Given the description of an element on the screen output the (x, y) to click on. 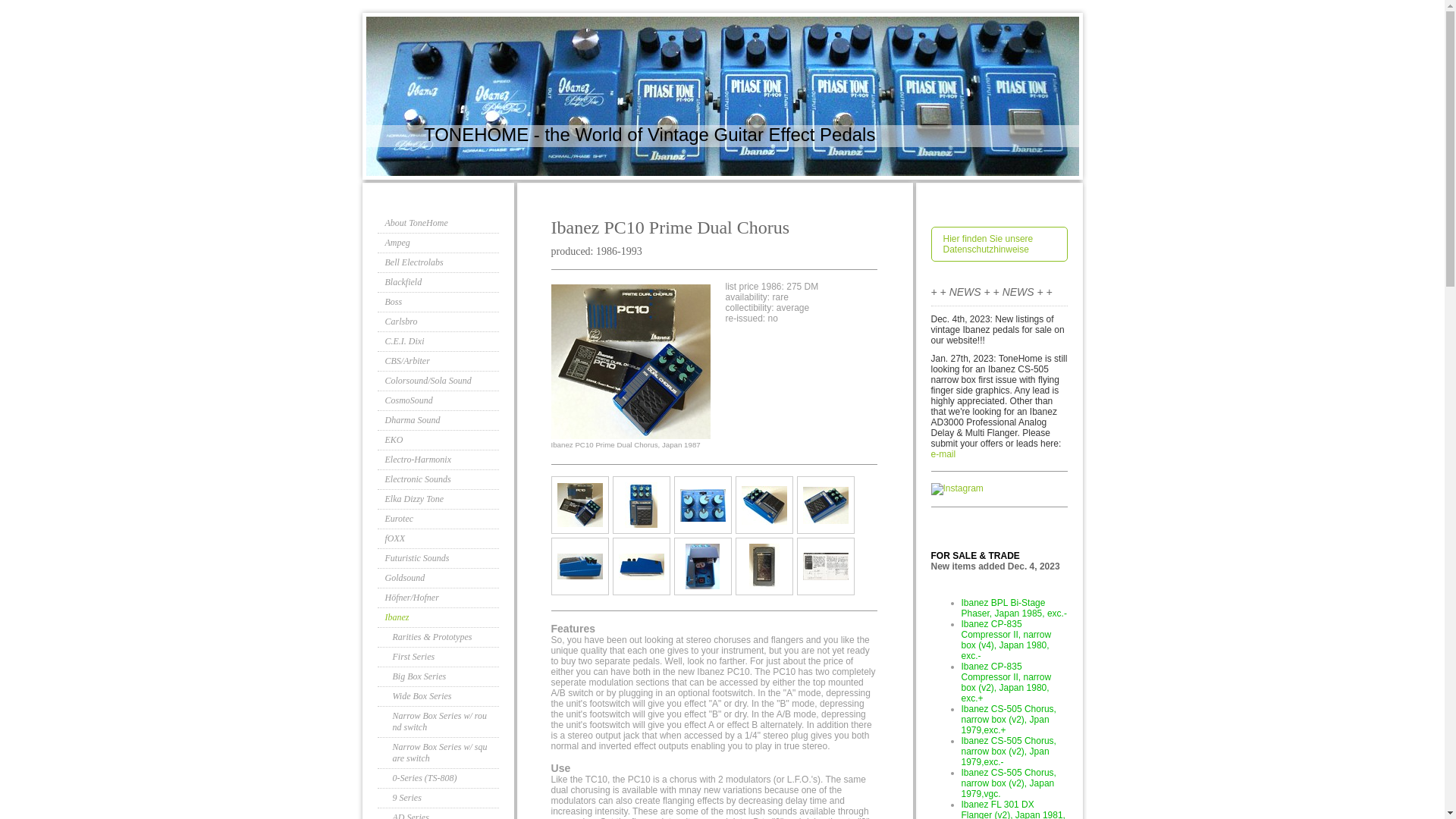
Ibanez PC10 Prime Dual Chorus, Japan 1987 (640, 566)
About ToneHome (438, 223)
Ibanez PC10 Prime Dual Chorus, Japan 1987 (764, 504)
EKO (438, 440)
Ibanez (438, 618)
First Series (438, 657)
Futuristic Sounds (438, 558)
Elka Dizzy Tone (438, 499)
Electro-Harmonix (438, 460)
Eurotec (438, 519)
